Given the description of an element on the screen output the (x, y) to click on. 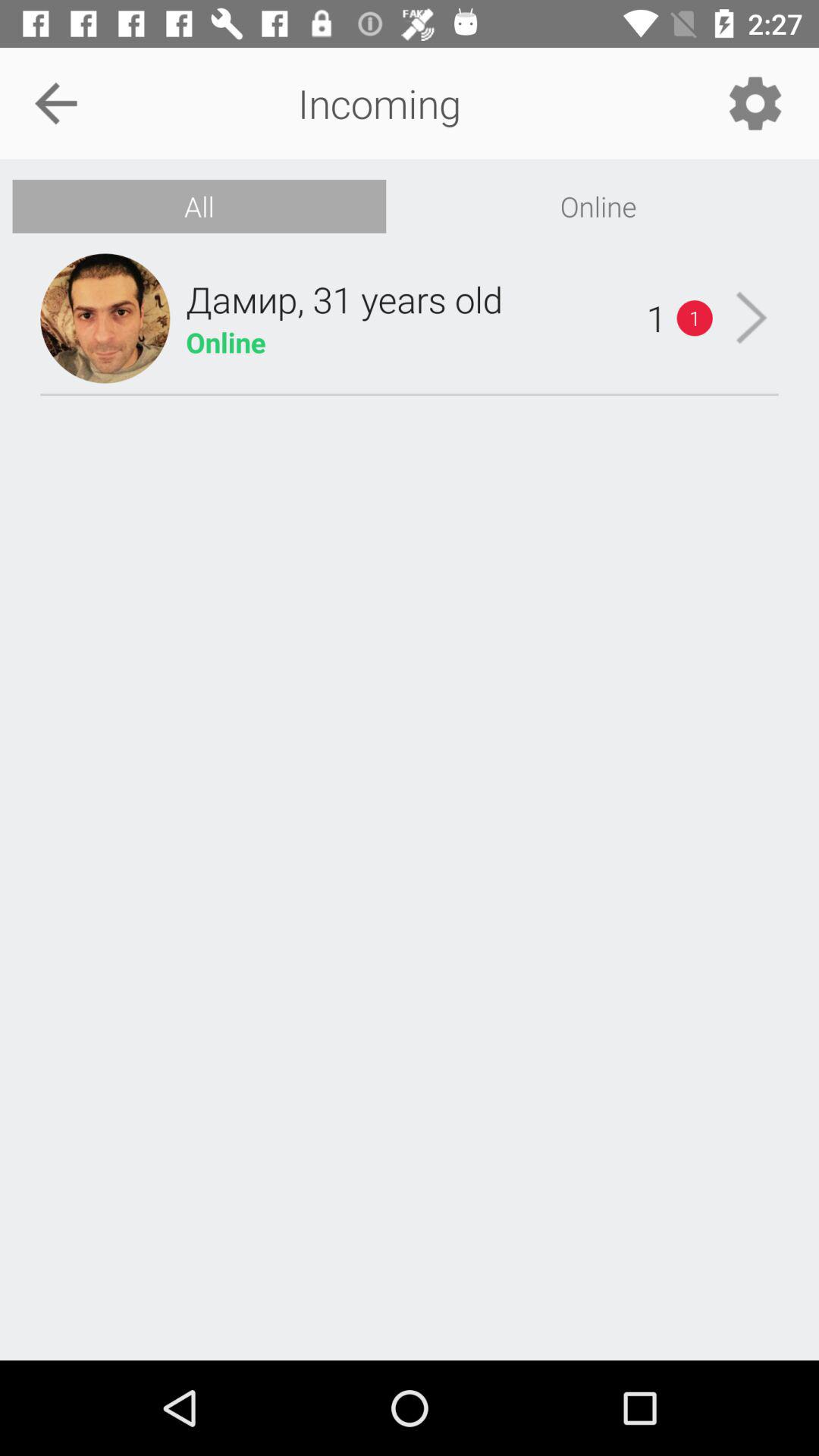
turn on the icon below the all (105, 318)
